Given the description of an element on the screen output the (x, y) to click on. 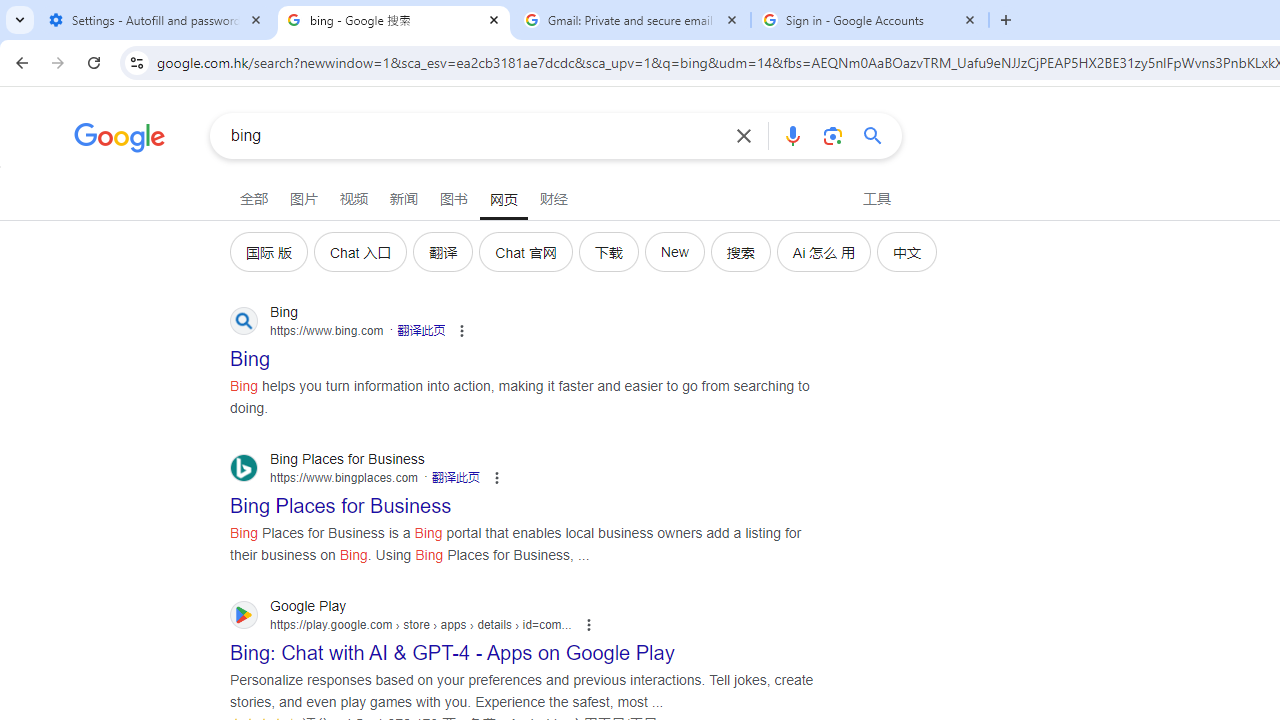
Sign in - Google Accounts (870, 20)
 Bing Bing https://www.bing.com (250, 353)
